Given the description of an element on the screen output the (x, y) to click on. 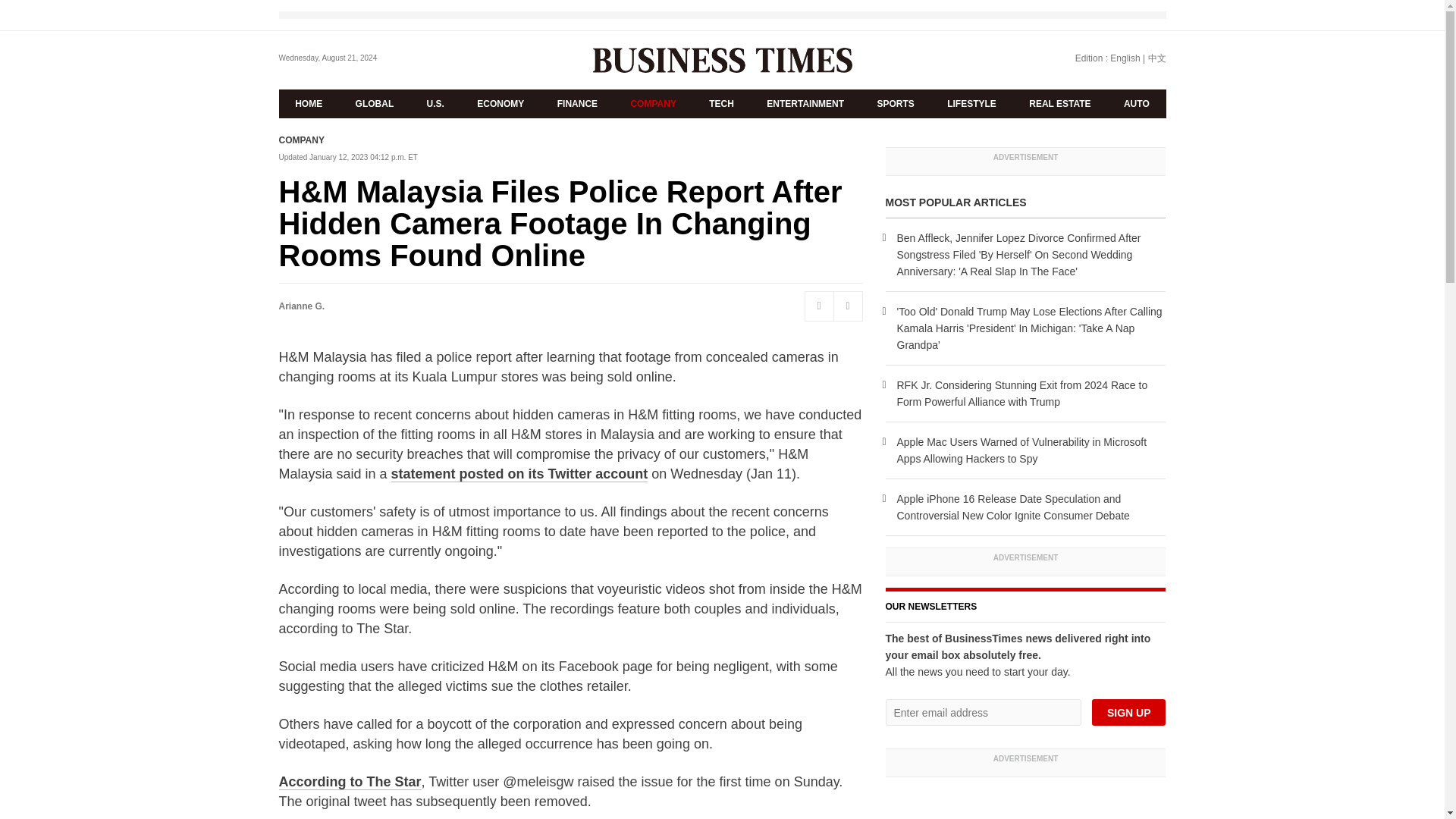
English (1124, 58)
GLOBAL (374, 103)
FINANCE (577, 103)
TECH (722, 103)
REAL ESTATE (1060, 103)
statement posted on its Twitter account (519, 474)
COMPANY (301, 140)
U.S. (435, 103)
AUTO (1136, 103)
SPORTS (895, 103)
